Given the description of an element on the screen output the (x, y) to click on. 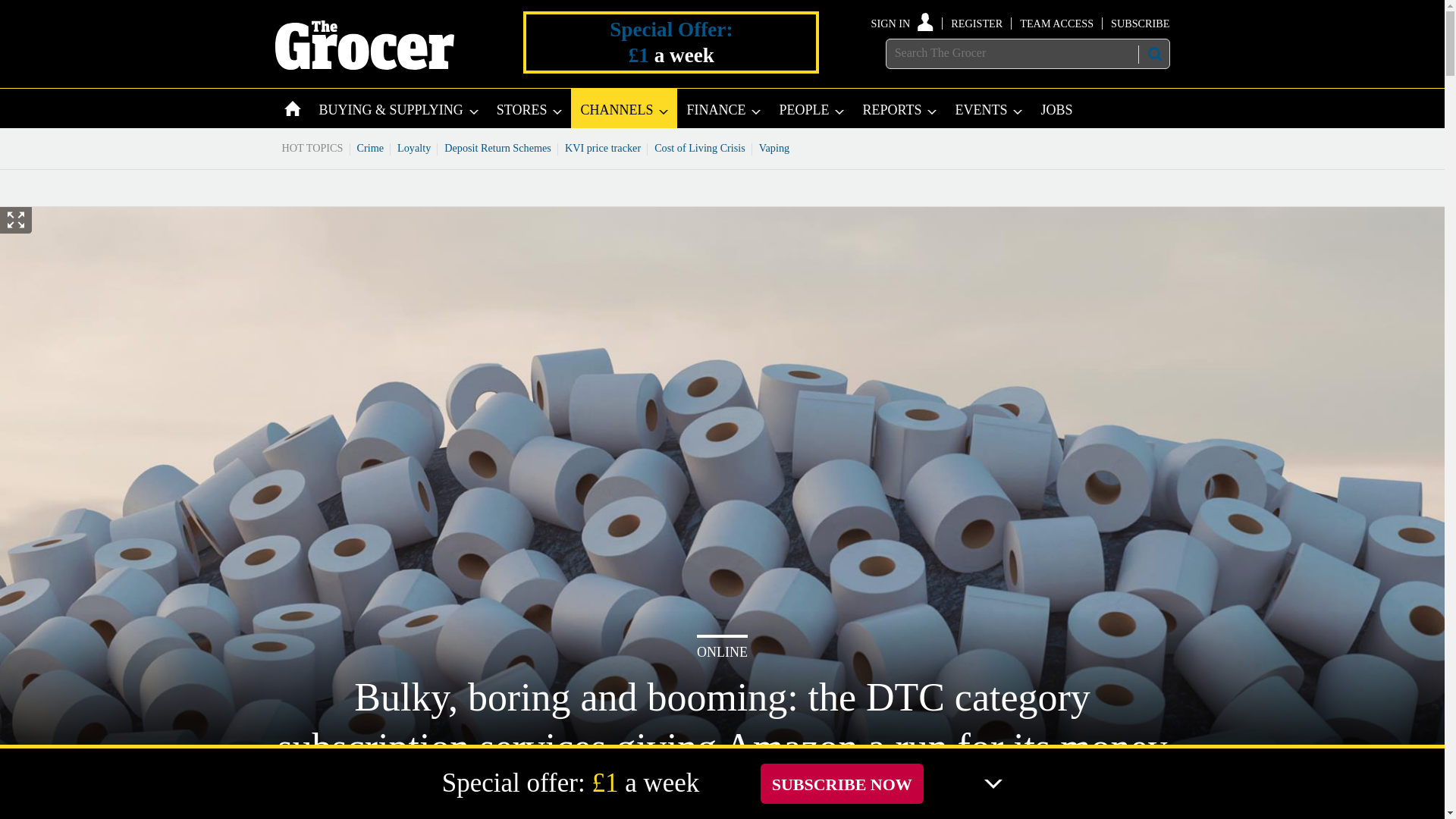
KVI price tracker (602, 147)
TEAM ACCESS (1056, 23)
Site name (363, 65)
SEARCH (1153, 53)
Vaping (774, 147)
Loyalty (414, 147)
SUBSCRIBE (1139, 23)
SUBSCRIBE NOW (841, 783)
SIGN IN (902, 23)
Cost of Living Crisis (699, 147)
Crime (370, 147)
Deposit Return Schemes (497, 147)
REGISTER (976, 23)
